Given the description of an element on the screen output the (x, y) to click on. 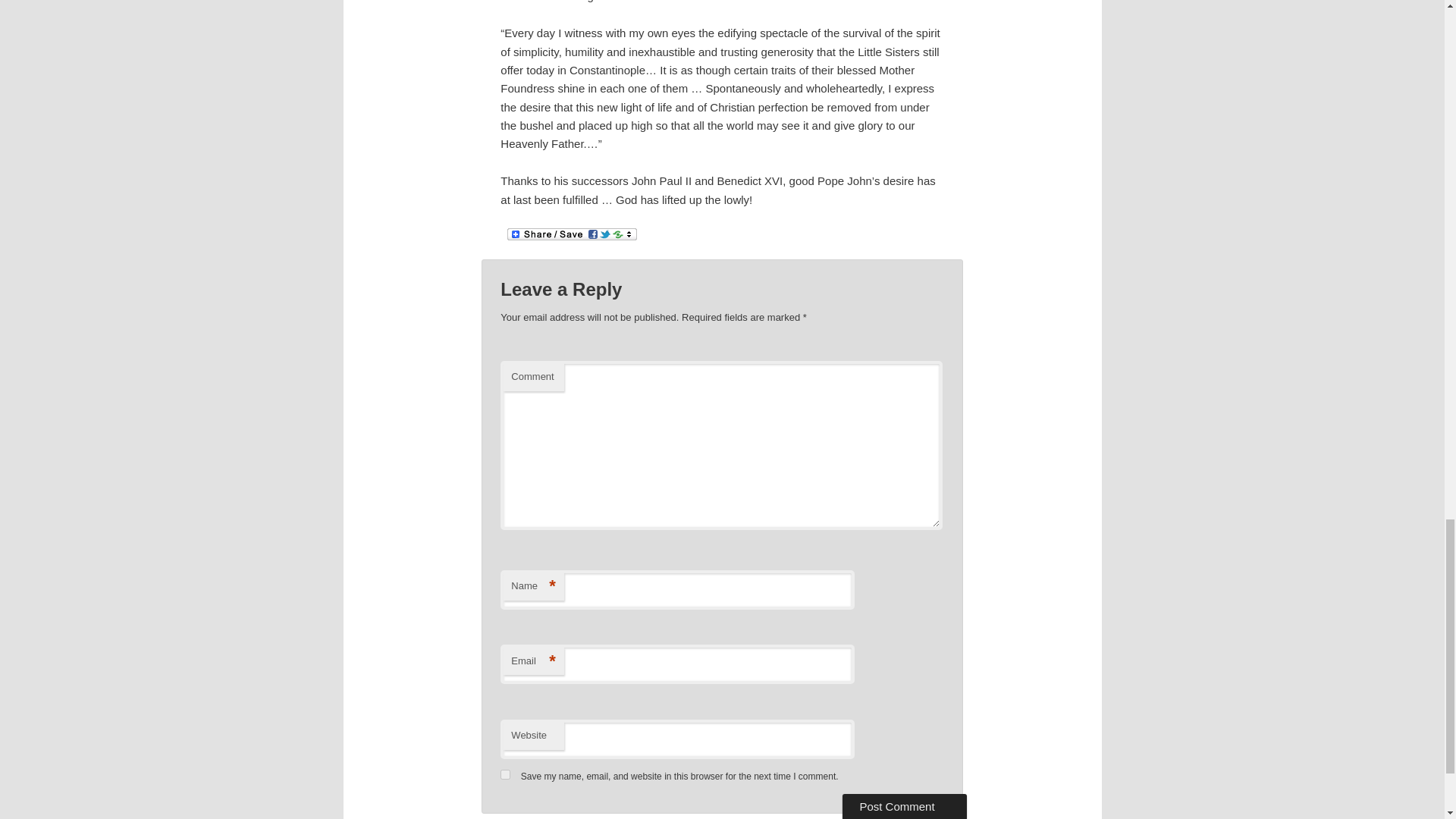
yes (505, 774)
Post Comment (904, 806)
Post Comment (904, 806)
